Given the description of an element on the screen output the (x, y) to click on. 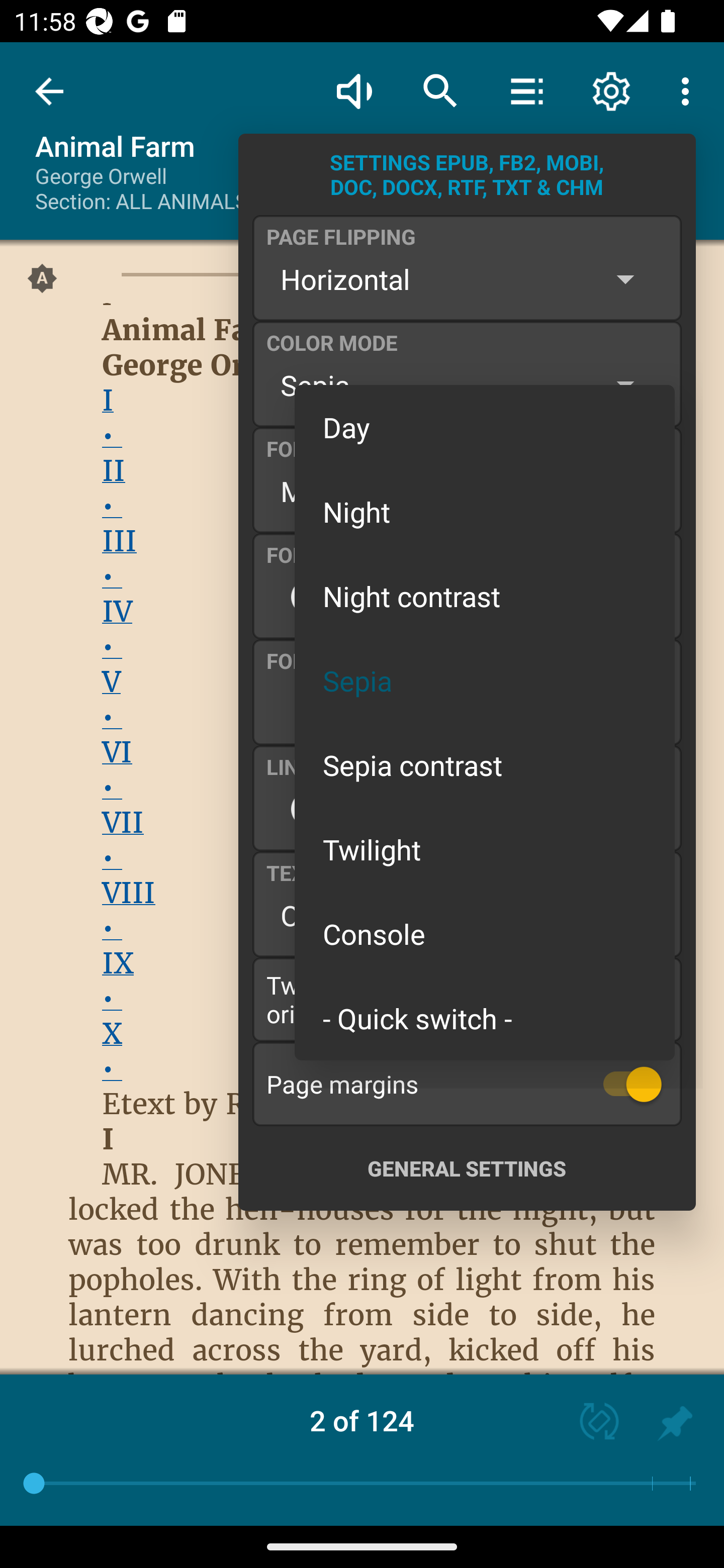
Day (484, 426)
Night (484, 510)
Night contrast (484, 595)
Sepia (484, 680)
Sepia contrast (484, 764)
Twilight (484, 849)
Console (484, 933)
- Quick switch - (484, 1017)
